Given the description of an element on the screen output the (x, y) to click on. 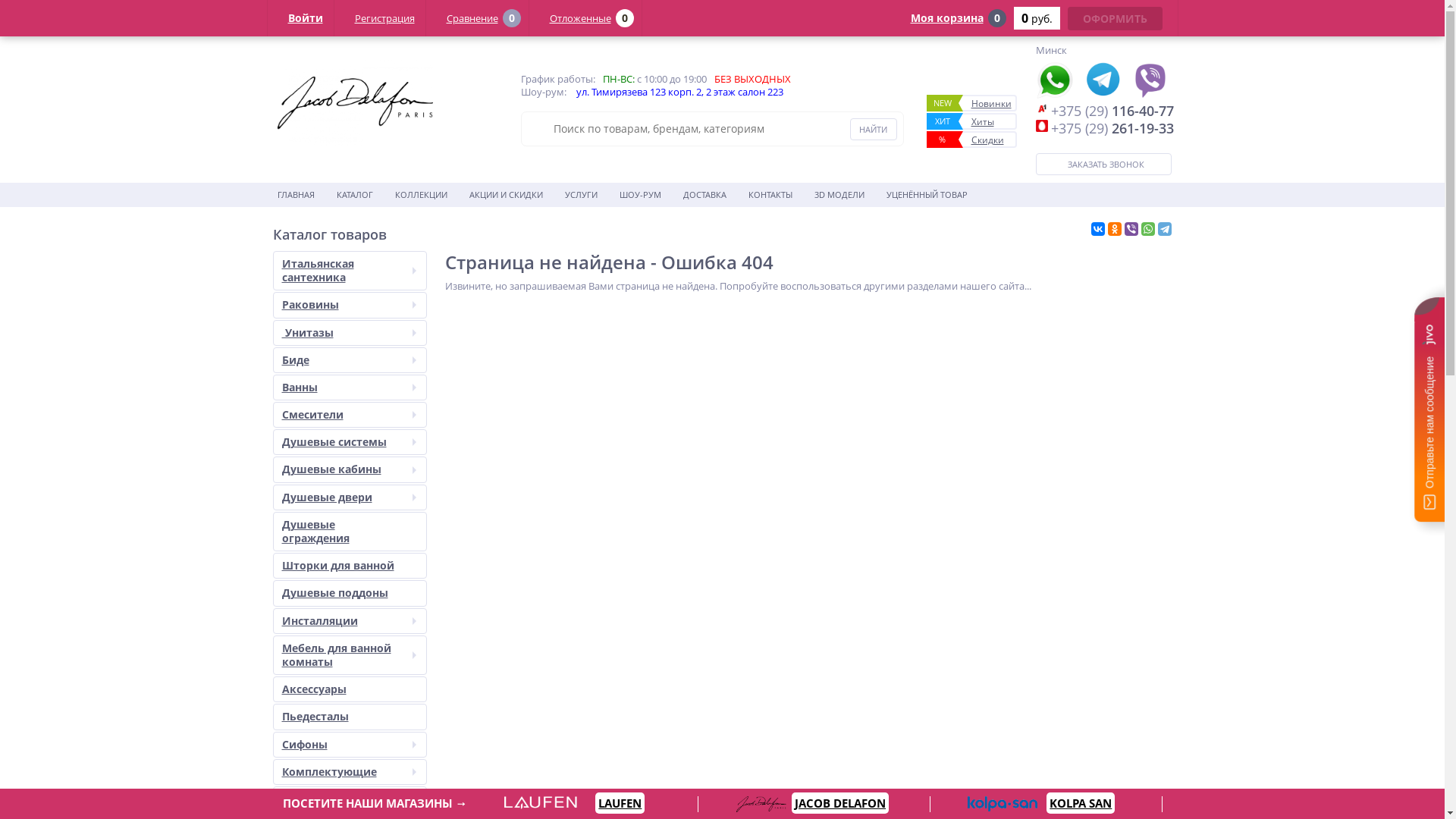
WhatsApp Element type: hover (1147, 228)
KOLPA SAN Element type: text (1080, 802)
LAUFEN Element type: text (619, 802)
Telegram Element type: hover (1163, 228)
70ac0d557baea36bf8c1f78b4e3be750.png Element type: hover (355, 102)
Viber Element type: hover (1130, 228)
JACOB DELAFON Element type: text (839, 802)
